Given the description of an element on the screen output the (x, y) to click on. 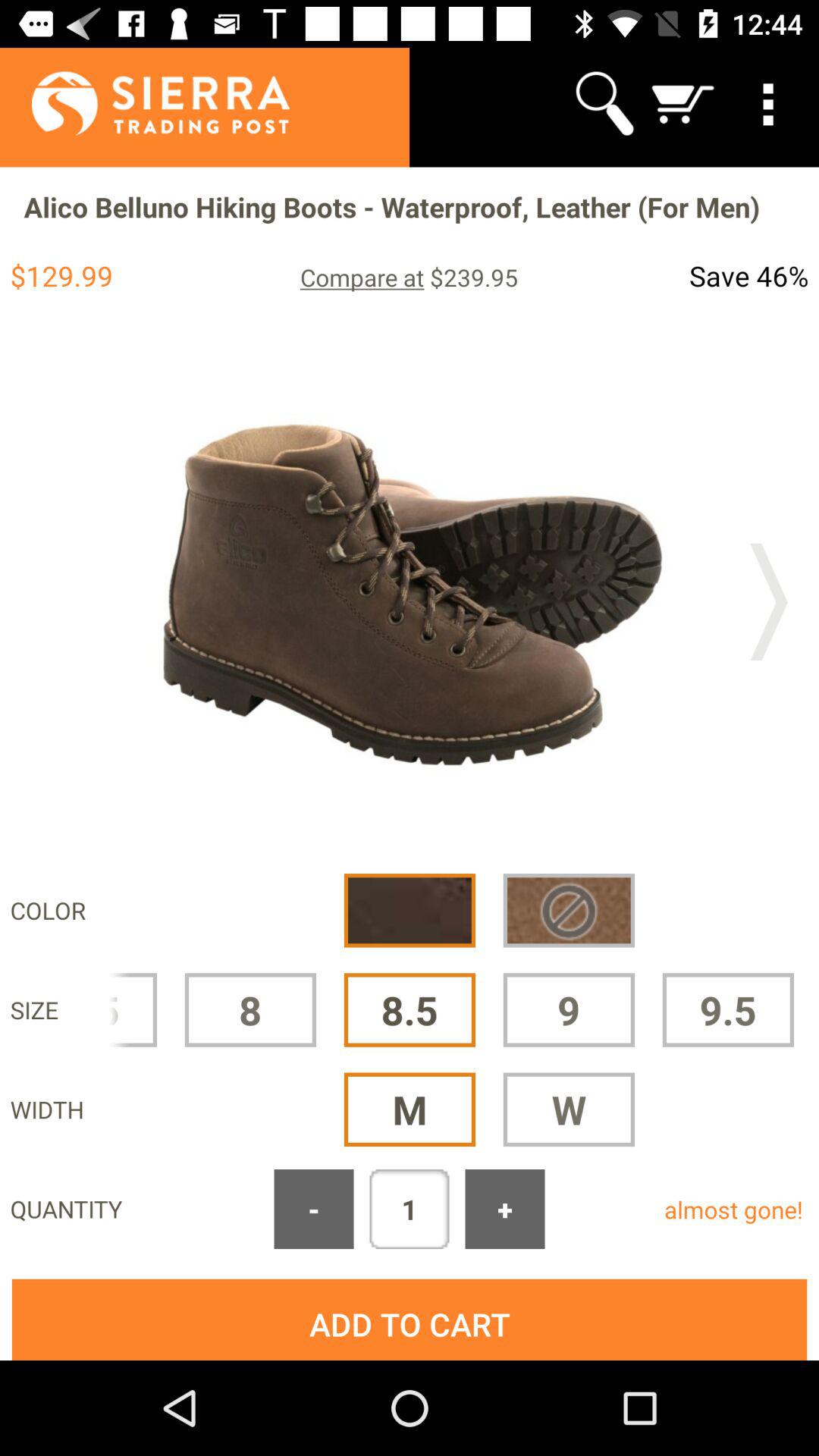
click icon to the right of quantity item (313, 1208)
